Given the description of an element on the screen output the (x, y) to click on. 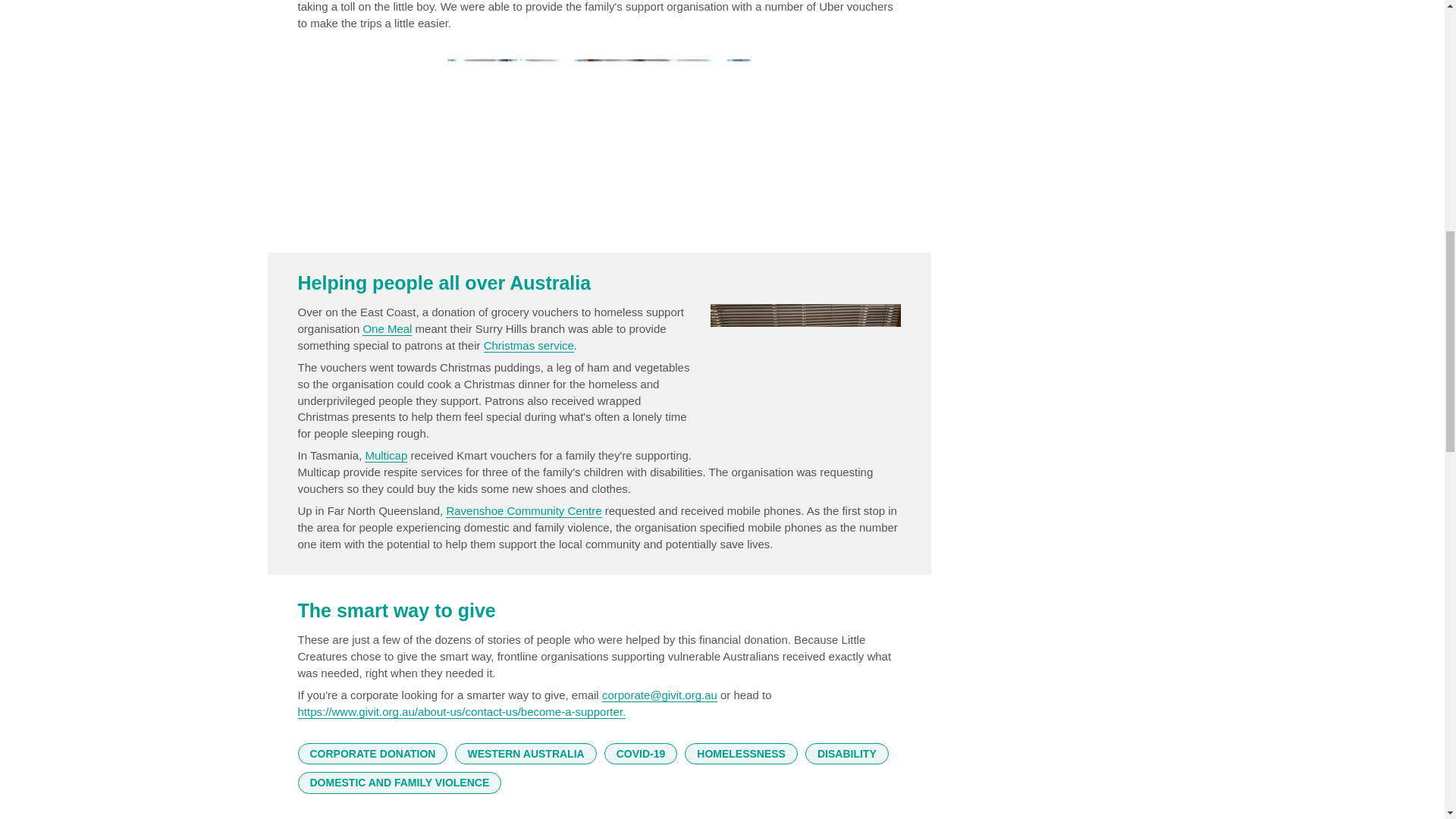
COVID-19 (641, 753)
Ravenshoe Community Centre (523, 510)
Christmas service (528, 345)
CORPORATE DONATION (371, 753)
One Meal (387, 328)
Multicap (386, 455)
WESTERN AUSTRALIA (524, 753)
HOMELESSNESS (740, 753)
